Given the description of an element on the screen output the (x, y) to click on. 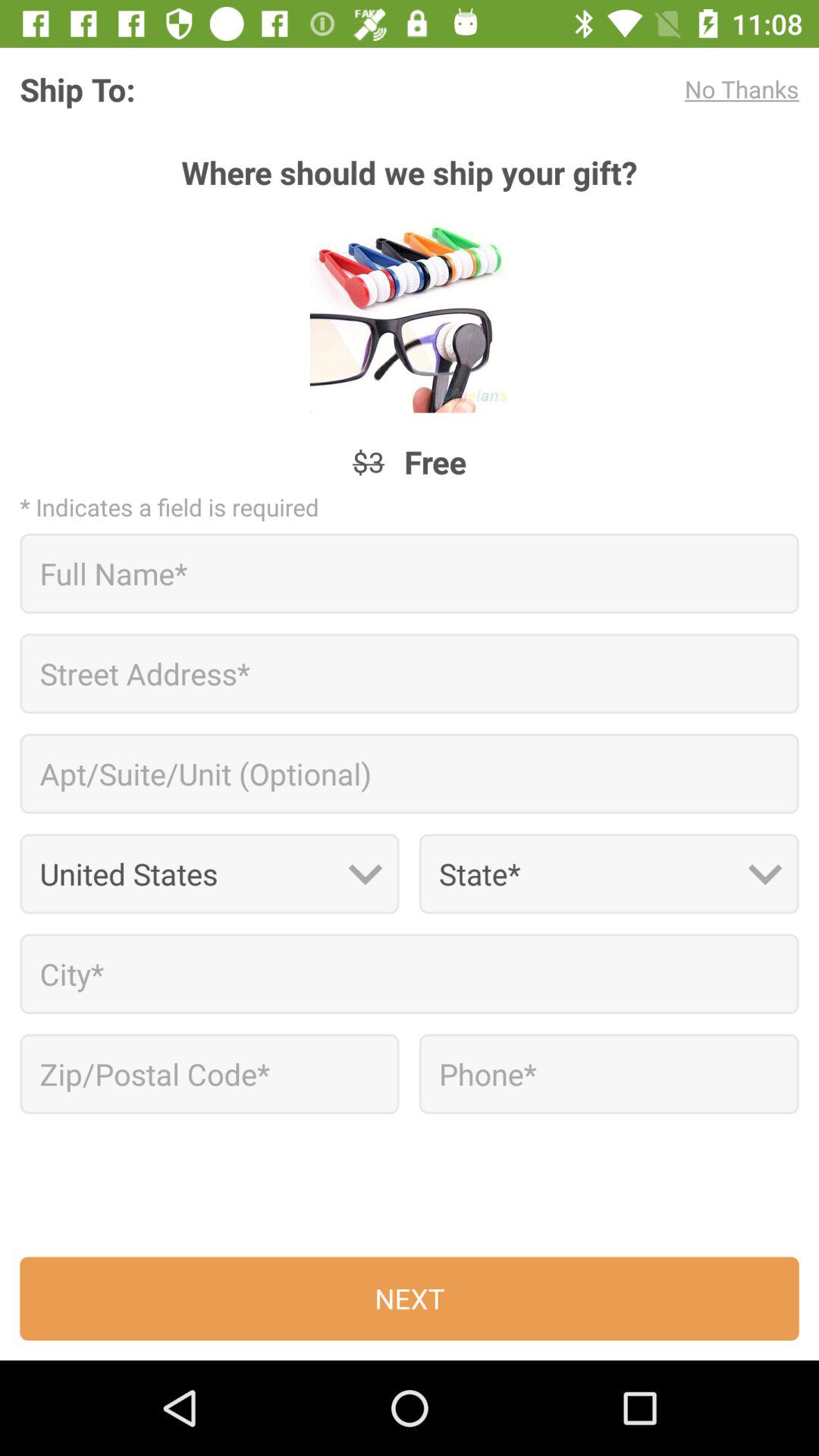
phone number box (609, 1073)
